Given the description of an element on the screen output the (x, y) to click on. 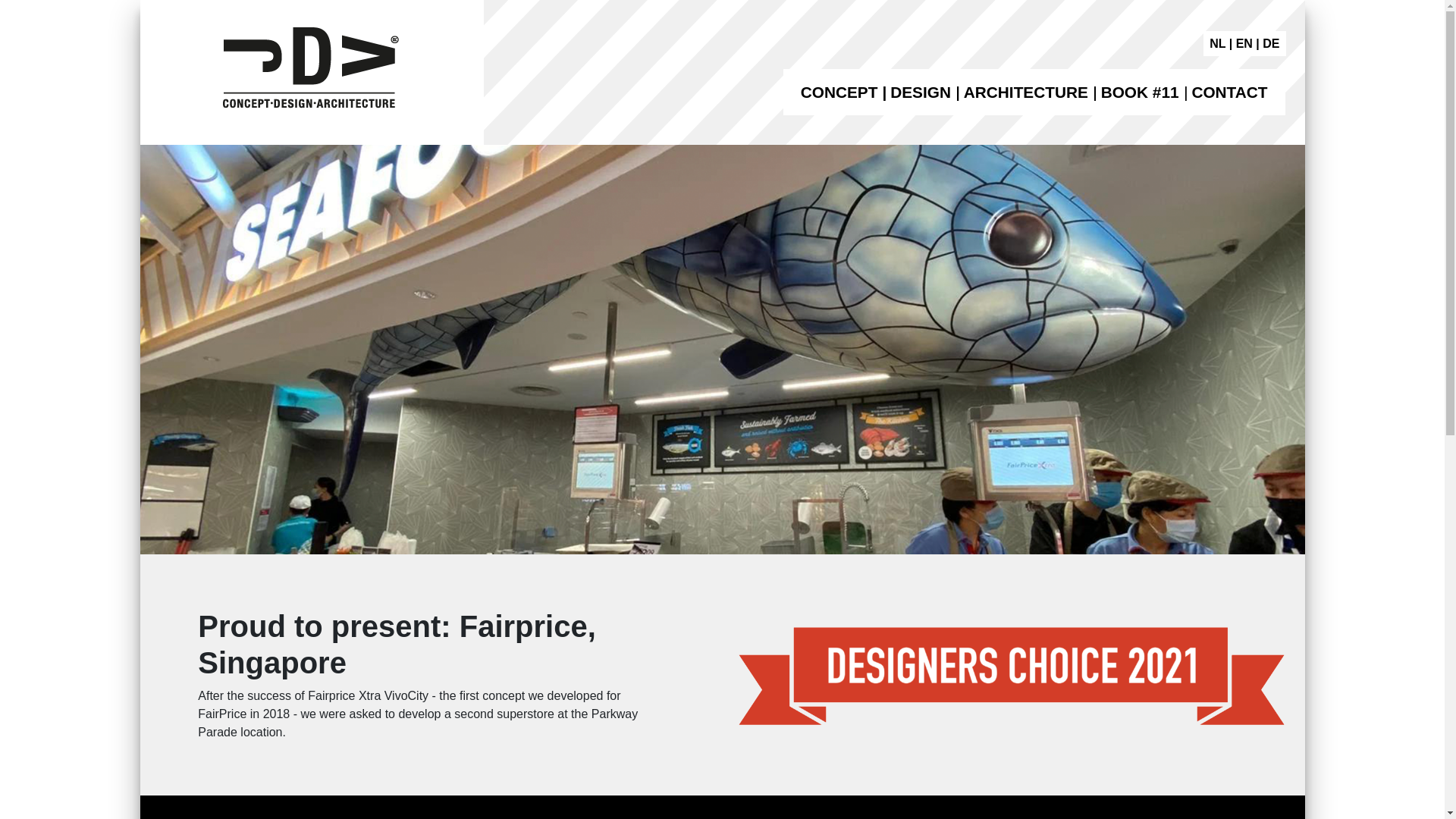
CONCEPT (838, 92)
ARCHITECTURE (1025, 92)
DESIGN (919, 92)
